Given the description of an element on the screen output the (x, y) to click on. 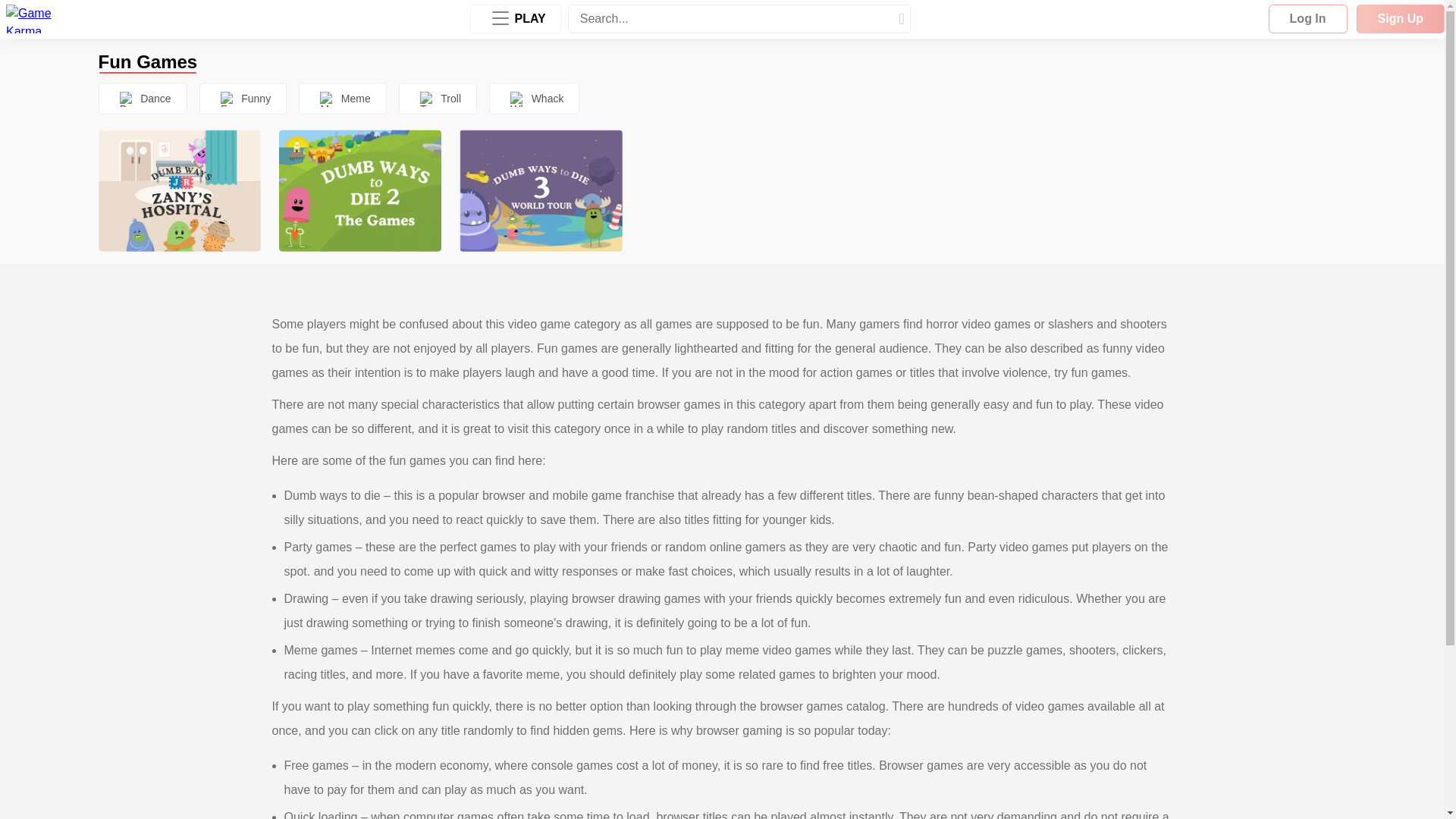
Dumb Ways To Die 2: The Games (360, 190)
Meme (342, 98)
PLAY (516, 18)
Funny (242, 98)
Dance (143, 98)
Dumb Ways To Die 3 World Tour (540, 190)
Log In (1308, 18)
Whack (534, 98)
Dumb Ways JR Zanys Hospital (179, 190)
Troll (437, 98)
